Given the description of an element on the screen output the (x, y) to click on. 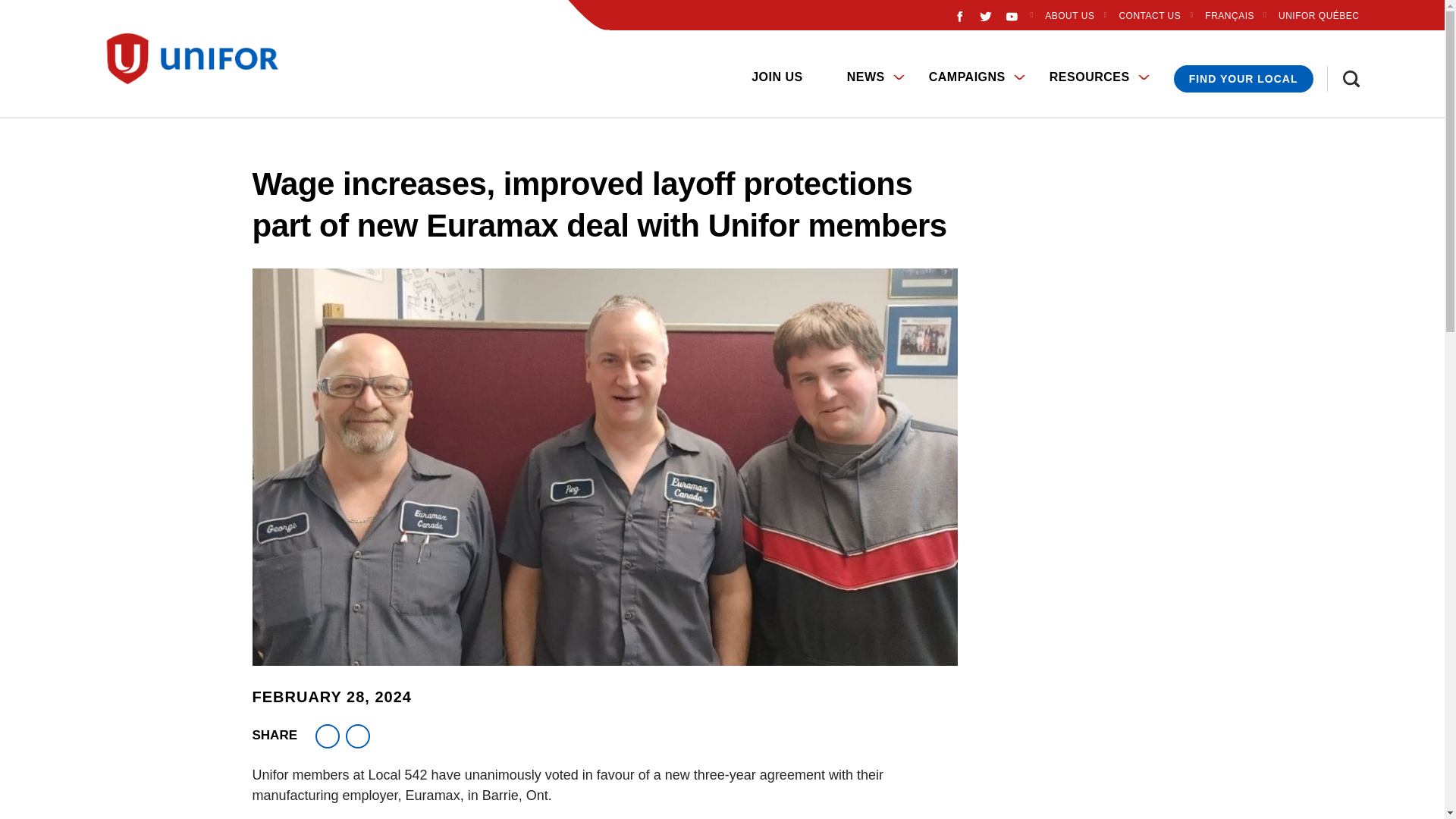
Home (198, 58)
Find your Unifor Local (1243, 78)
Home (104, 65)
